Given the description of an element on the screen output the (x, y) to click on. 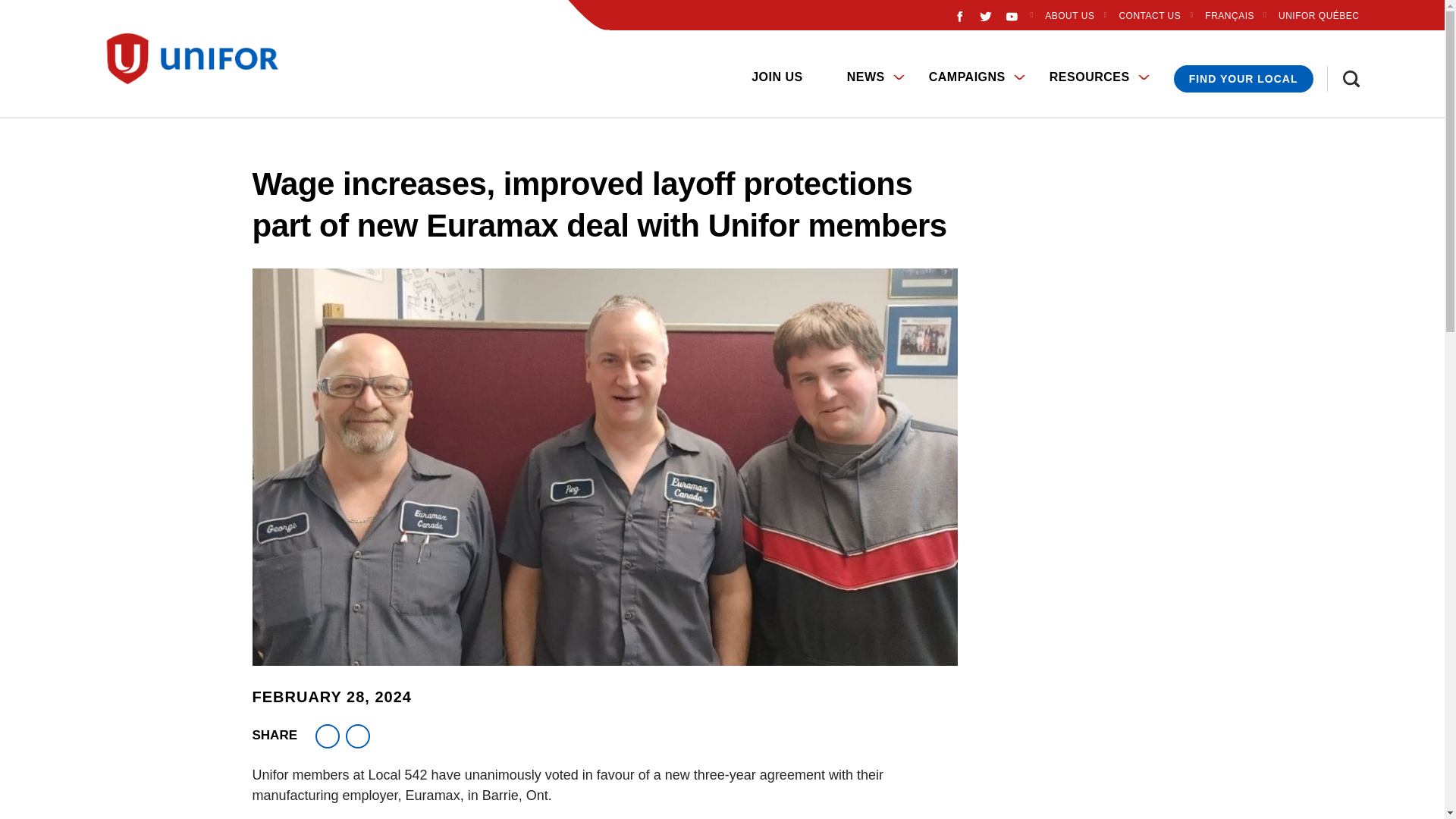
Home (198, 58)
Find your Unifor Local (1243, 78)
Home (104, 65)
